Given the description of an element on the screen output the (x, y) to click on. 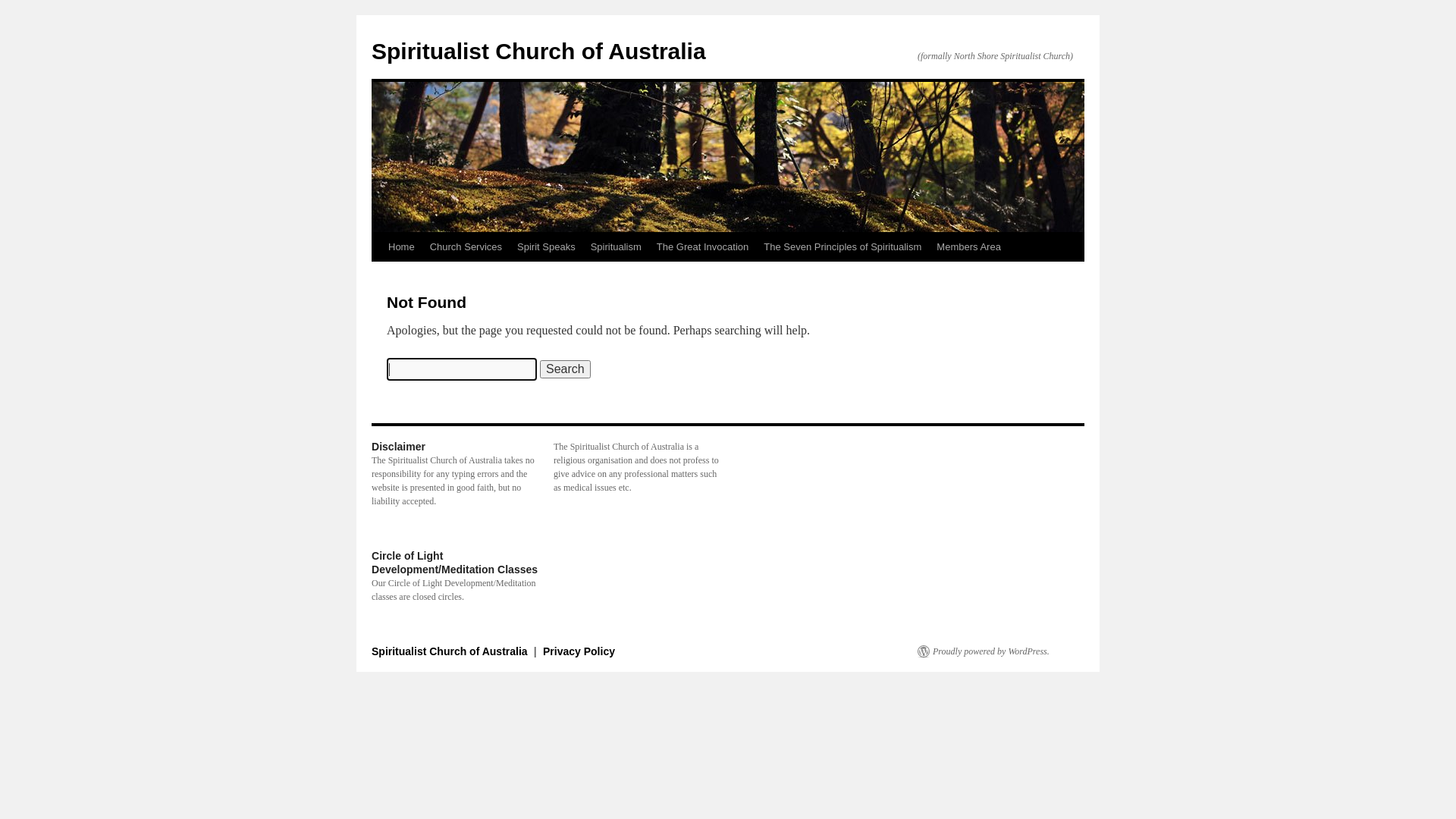
Church Services Element type: text (465, 246)
Privacy Policy Element type: text (578, 651)
Skip to content Element type: text (377, 275)
The Great Invocation Element type: text (702, 246)
Search Element type: text (564, 369)
Spirit Speaks Element type: text (546, 246)
Proudly powered by WordPress. Element type: text (983, 651)
Members Area Element type: text (968, 246)
The Seven Principles of Spiritualism Element type: text (842, 246)
Spiritualist Church of Australia Element type: text (450, 651)
Home Element type: text (401, 246)
Spiritualism Element type: text (616, 246)
Spiritualist Church of Australia Element type: text (538, 50)
